Given the description of an element on the screen output the (x, y) to click on. 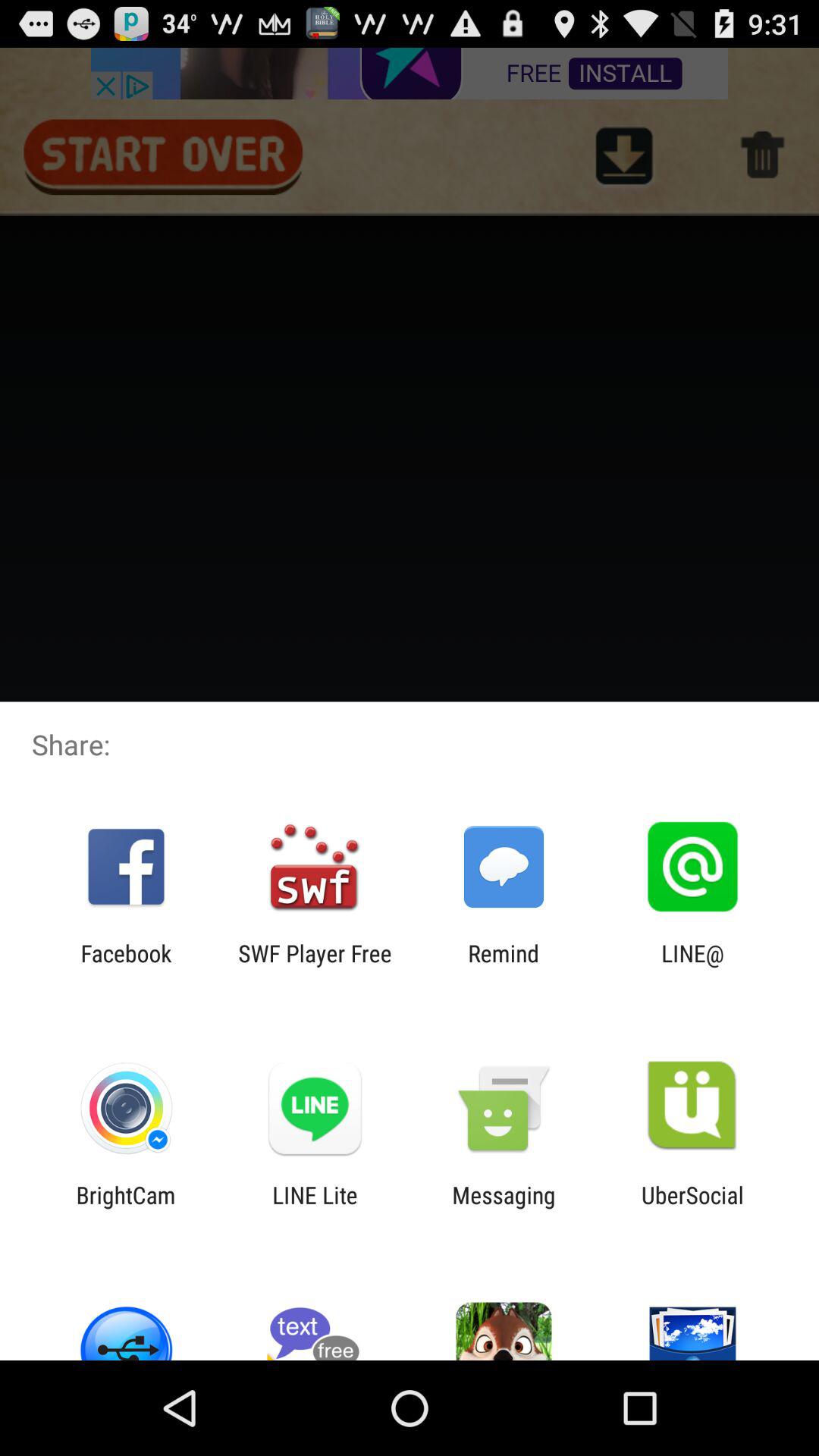
flip until the remind (503, 966)
